Given the description of an element on the screen output the (x, y) to click on. 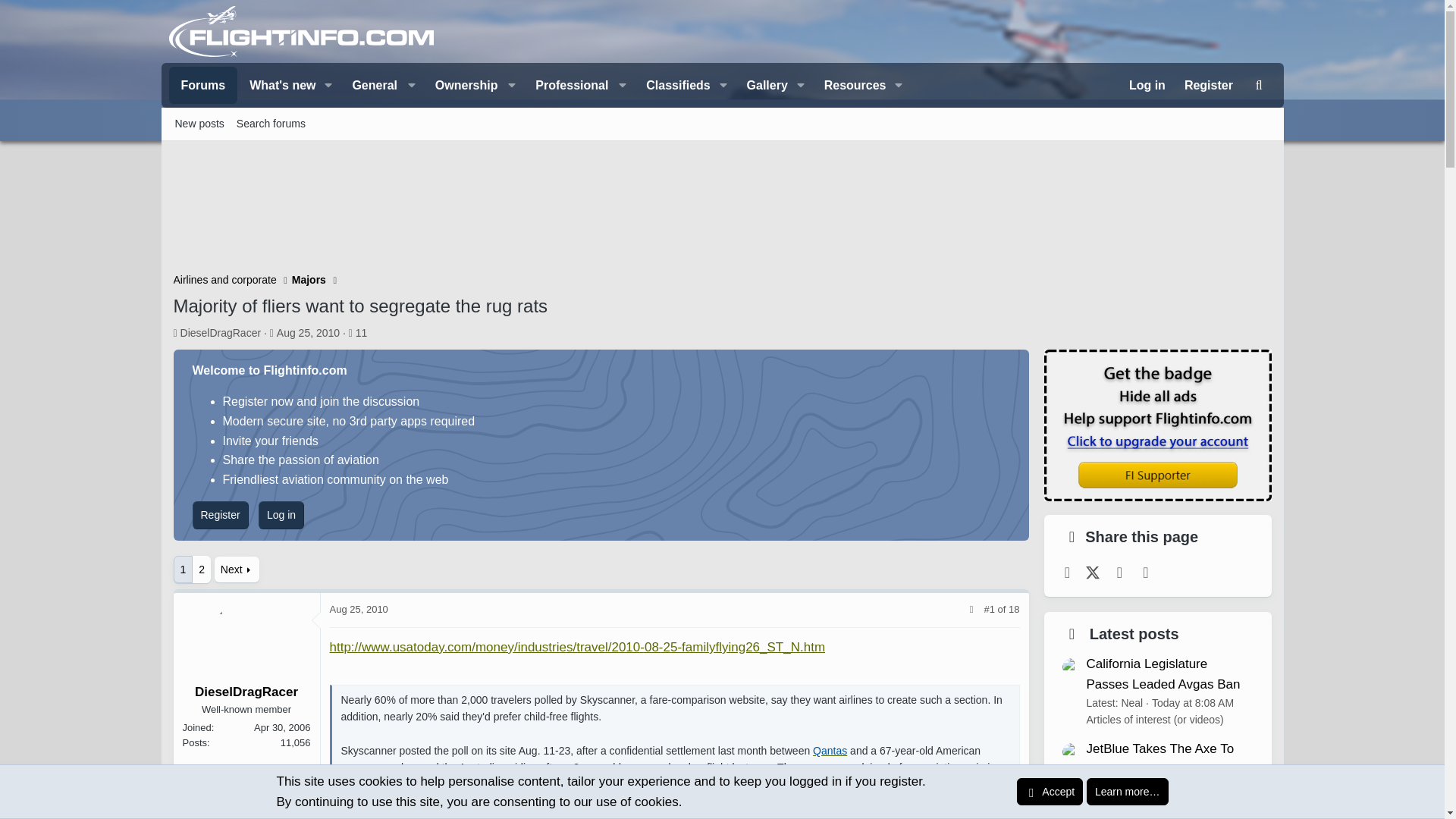
General (380, 85)
Aug 25, 2010 at 7:49 AM (358, 609)
Go to latest (721, 123)
Search (1014, 609)
Aug 25, 2010 at 7:49 AM (1258, 85)
What's new (307, 332)
Forums (277, 85)
